Given the description of an element on the screen output the (x, y) to click on. 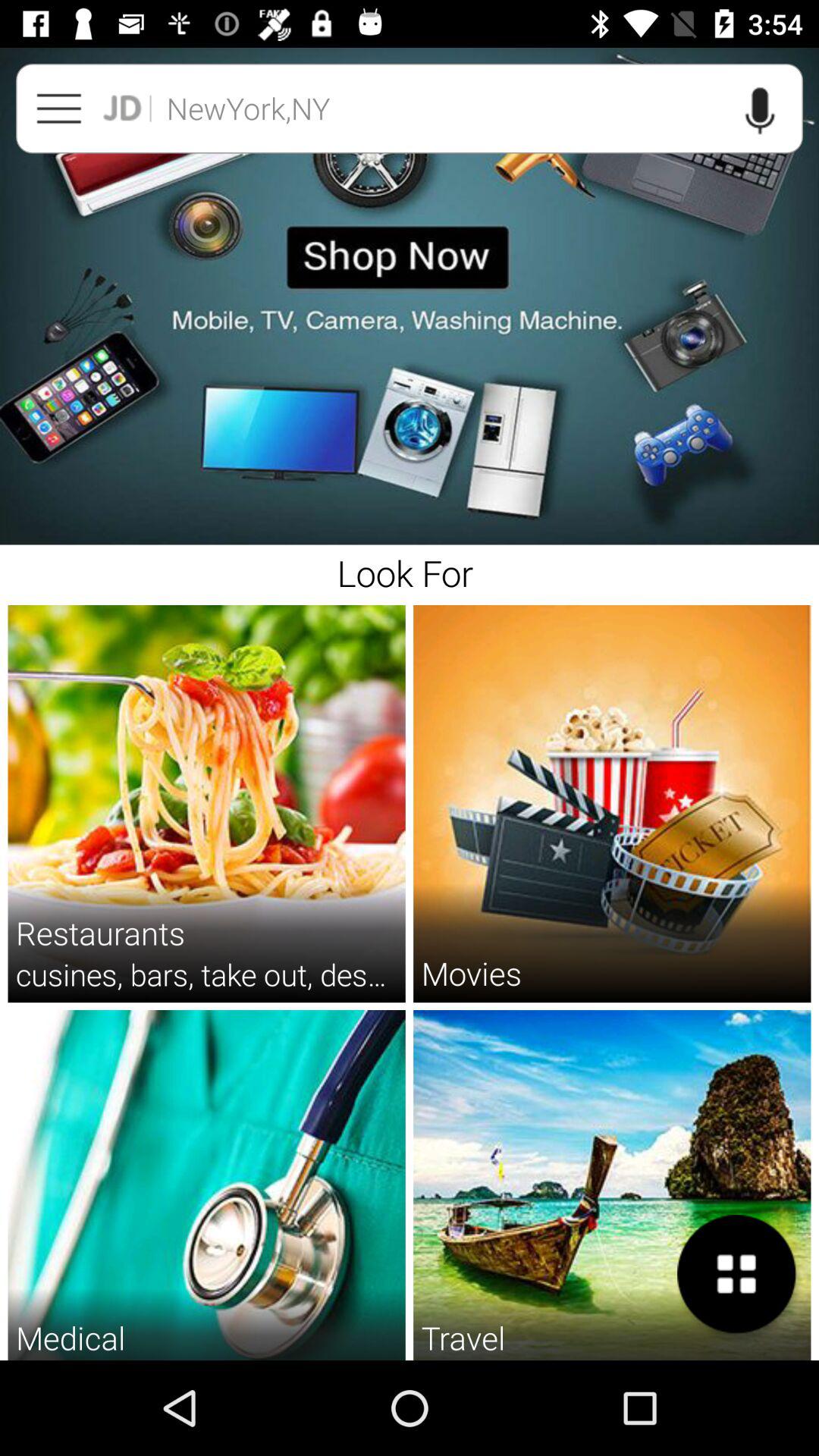
launch movies icon (471, 972)
